Given the description of an element on the screen output the (x, y) to click on. 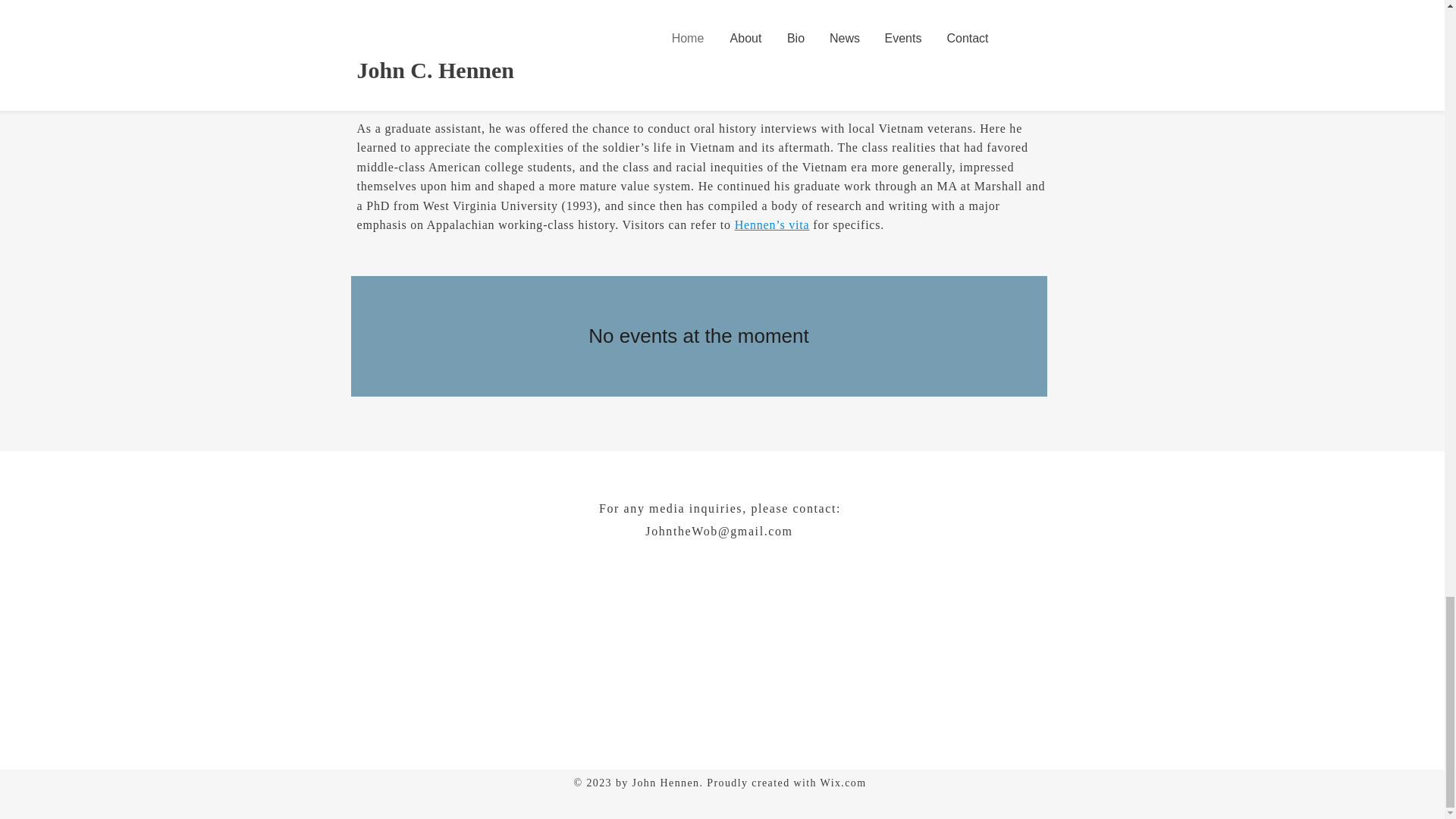
Wix.com (843, 782)
